Given the description of an element on the screen output the (x, y) to click on. 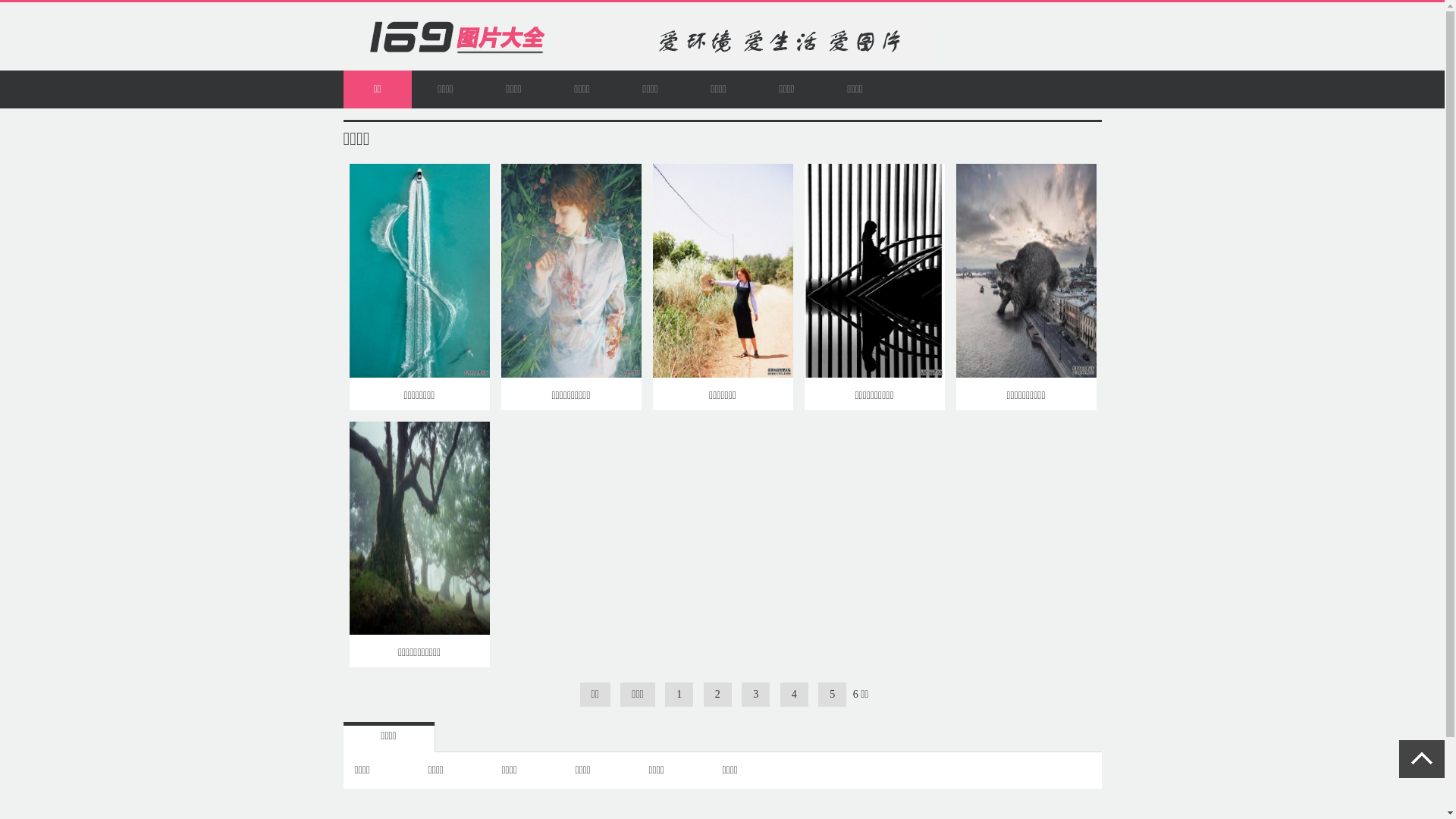
4 Element type: text (794, 694)
5 Element type: text (832, 694)
1 Element type: text (679, 694)
2 Element type: text (717, 694)
3 Element type: text (755, 694)
